Given the description of an element on the screen output the (x, y) to click on. 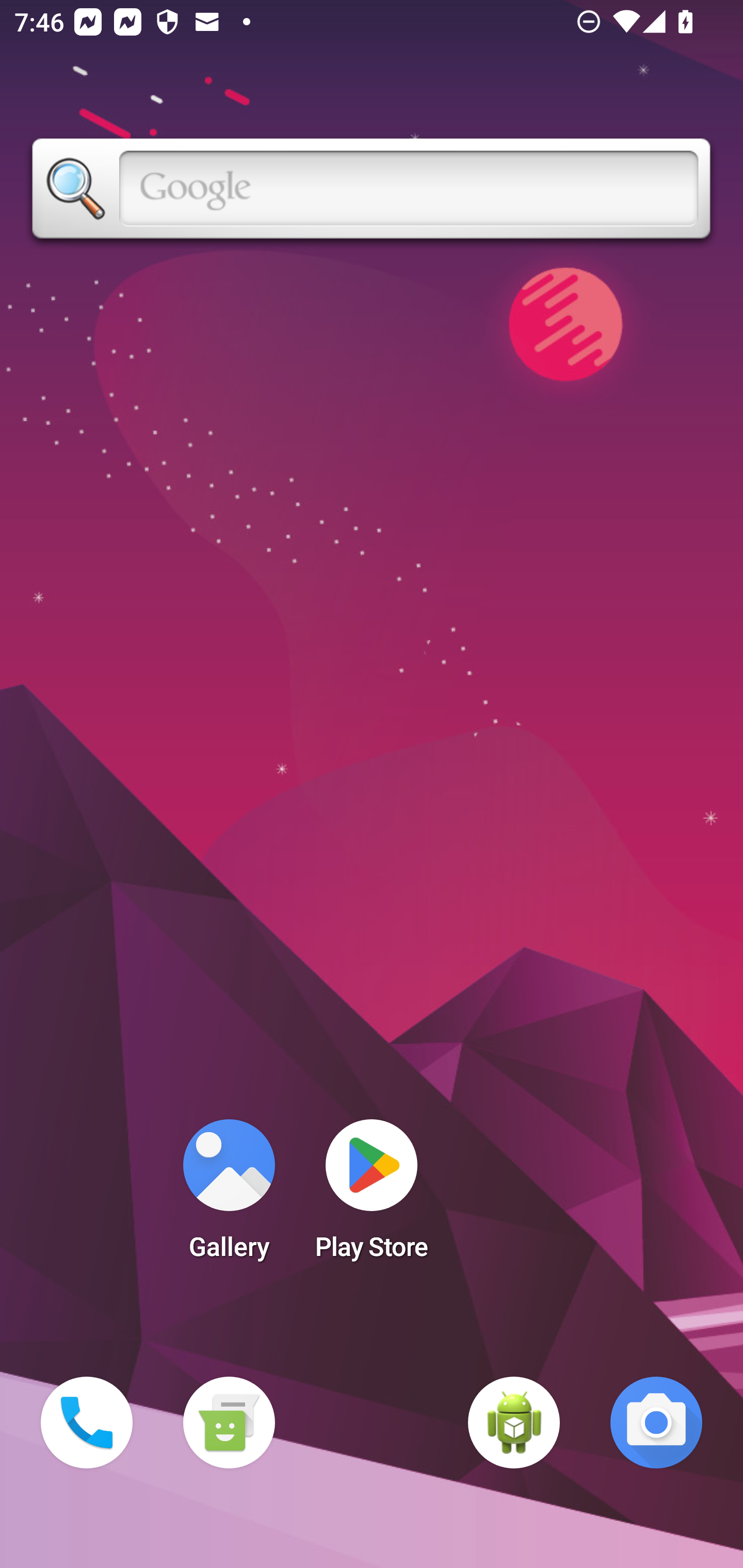
Gallery (228, 1195)
Play Store (371, 1195)
Phone (86, 1422)
Messaging (228, 1422)
WebView Browser Tester (513, 1422)
Camera (656, 1422)
